Given the description of an element on the screen output the (x, y) to click on. 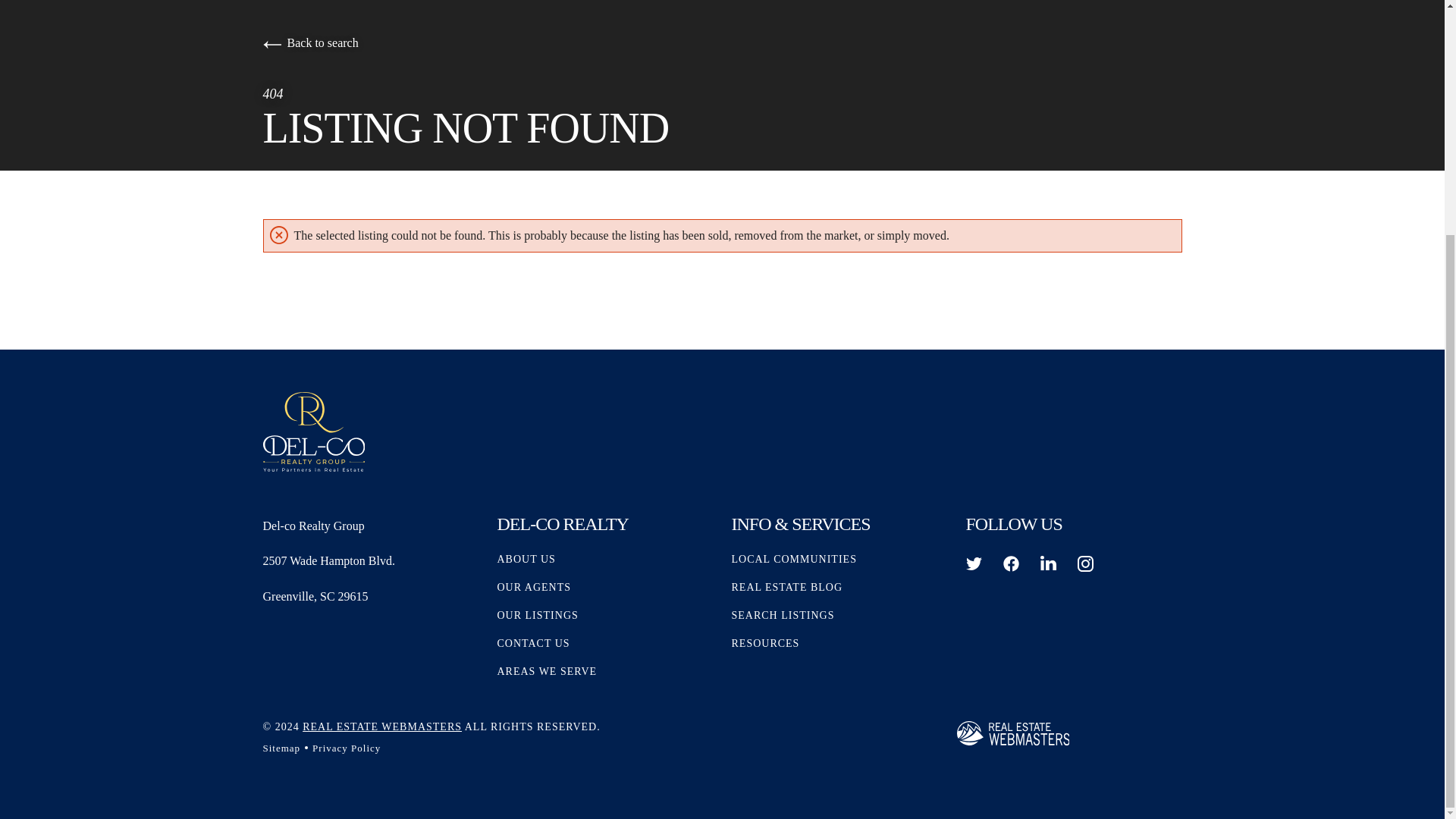
TWITTER (973, 563)
LINKEDIN (1049, 563)
FACEBOOK (1010, 563)
